Given the description of an element on the screen output the (x, y) to click on. 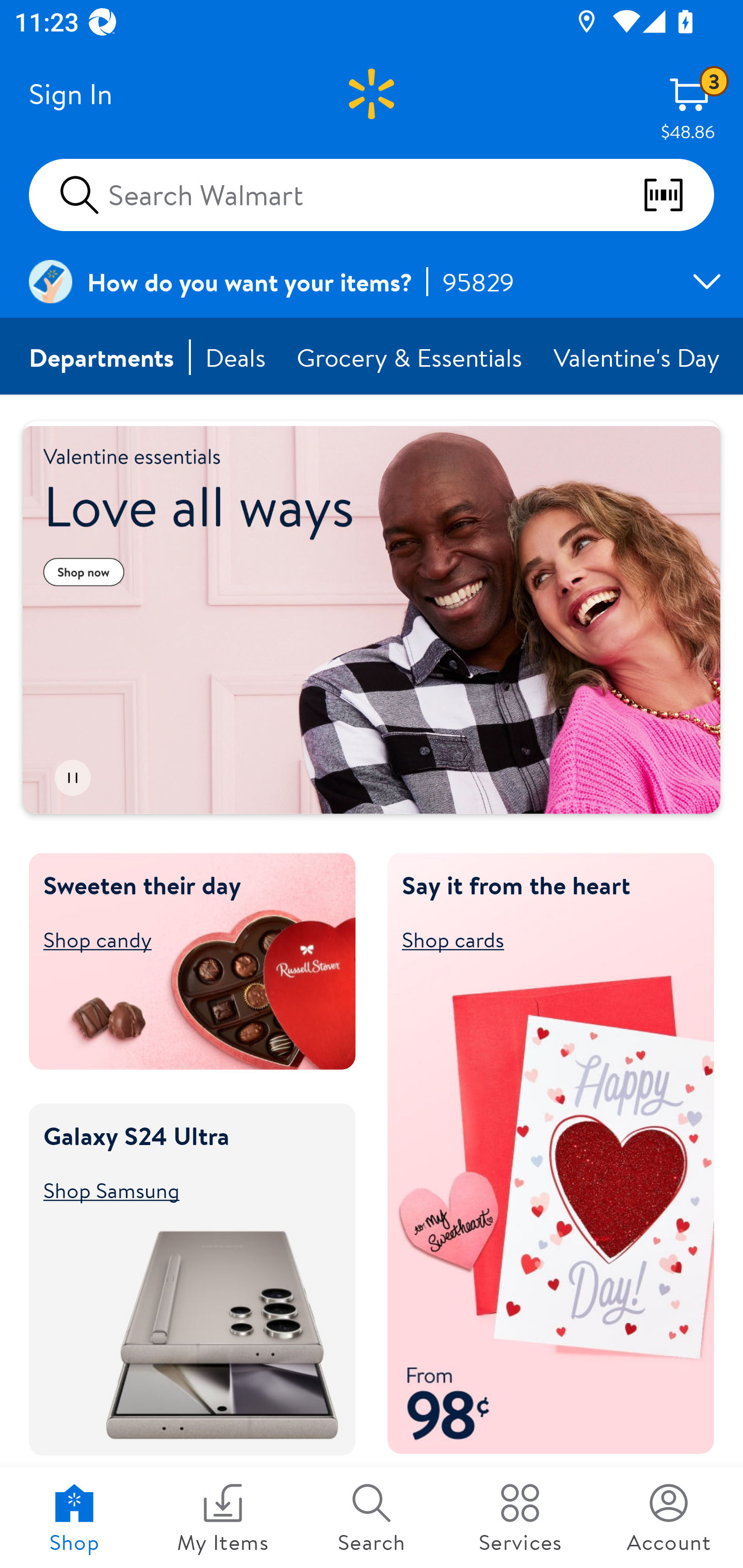
Sign In (70, 93)
Search Walmart scan barcodes qr codes and more (371, 194)
scan barcodes qr codes and more (677, 195)
Departments (102, 357)
Deals (236, 357)
Grocery & Essentials (410, 357)
Valentine's Day (637, 357)
Pause (72, 777)
Shop candy Shop candy Sweeten their day (183, 939)
Shop cards Shop cards Say it from the heart (541, 939)
Shop Samsung Shop Samsung Galaxy S24 Ultra (183, 1190)
My Items (222, 1517)
Search (371, 1517)
Services (519, 1517)
Account (668, 1517)
